Given the description of an element on the screen output the (x, y) to click on. 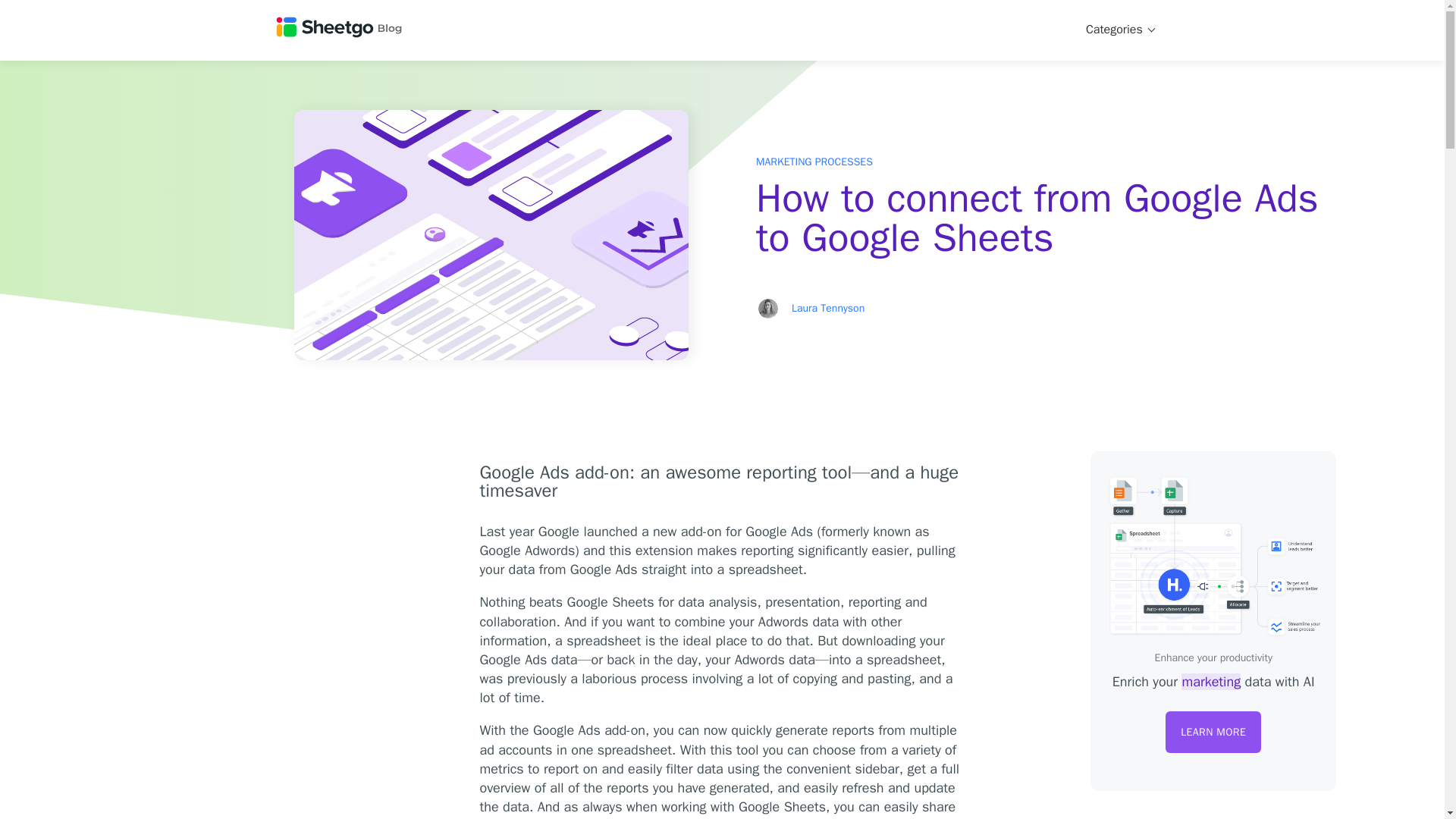
Laura Tennyson (828, 308)
Categories (1120, 29)
MARKETING PROCESSES (813, 161)
LEARN MORE (1213, 731)
